Given the description of an element on the screen output the (x, y) to click on. 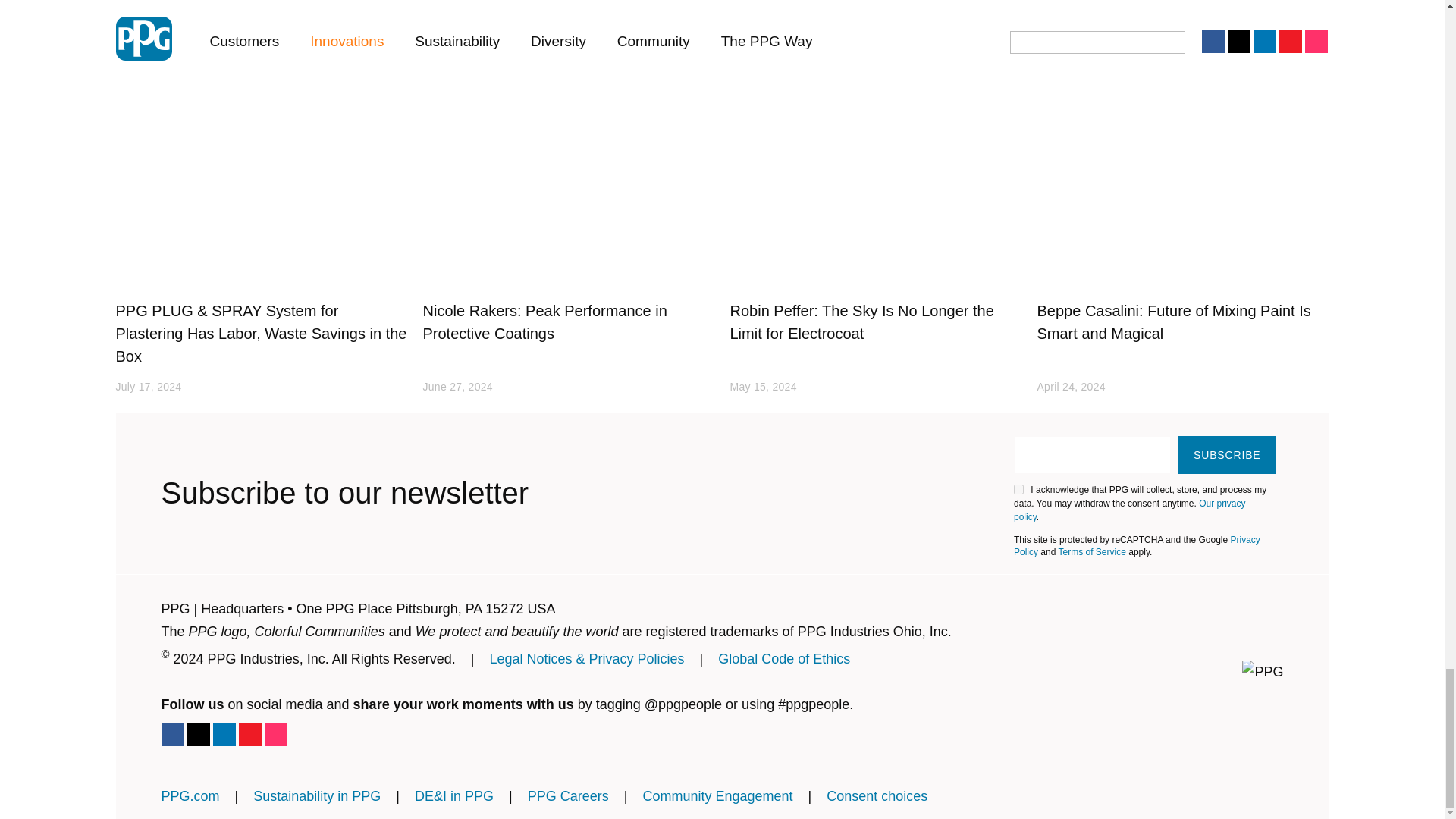
Subscribe (1226, 454)
on (1018, 489)
